Given the description of an element on the screen output the (x, y) to click on. 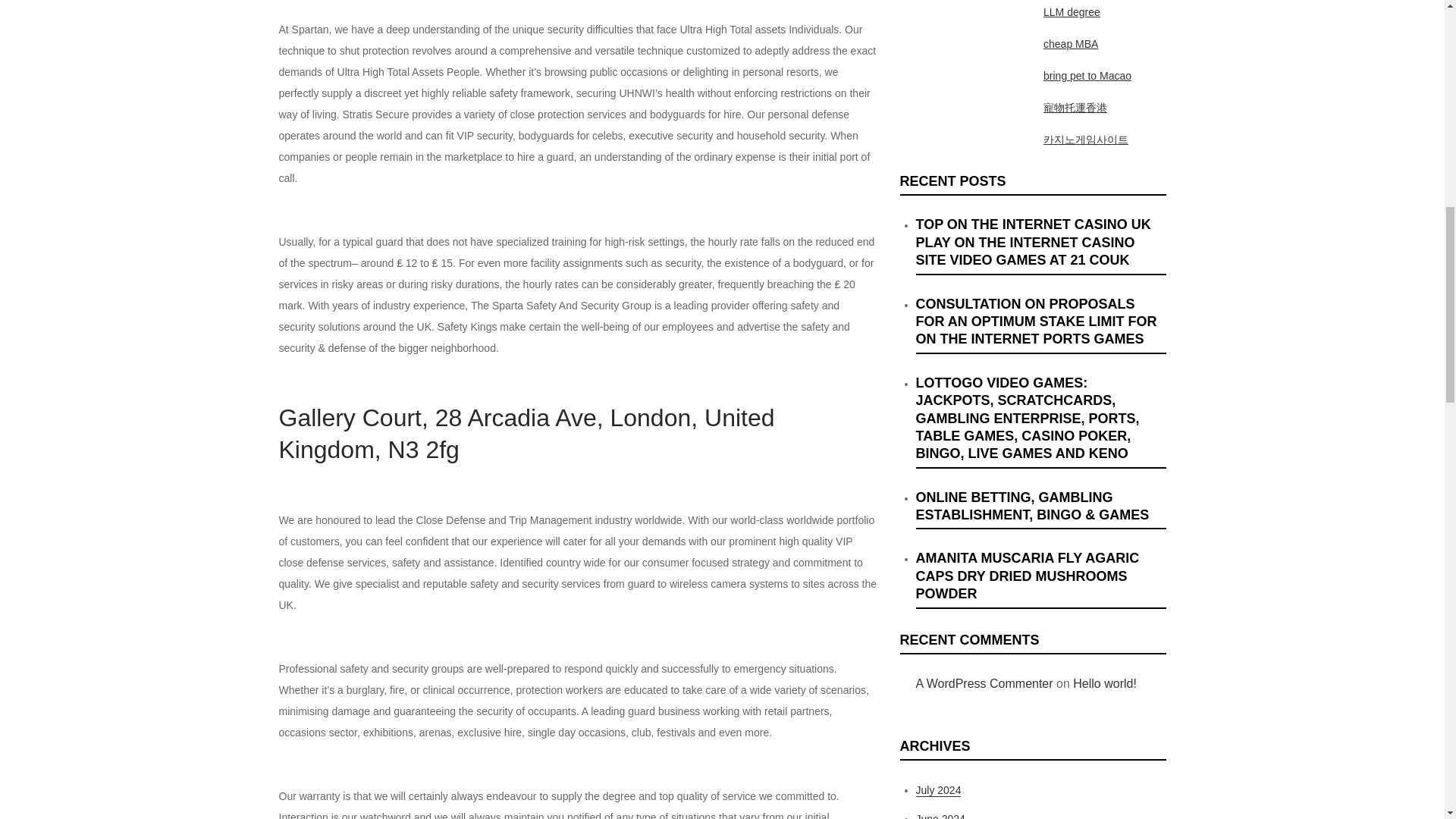
AMANITA MUSCARIA FLY AGARIC CAPS DRY DRIED MUSHROOMS POWDER (1040, 578)
bring pet to Macao (1087, 75)
cheap MBA (1070, 43)
LLM degree (1071, 11)
